Given the description of an element on the screen output the (x, y) to click on. 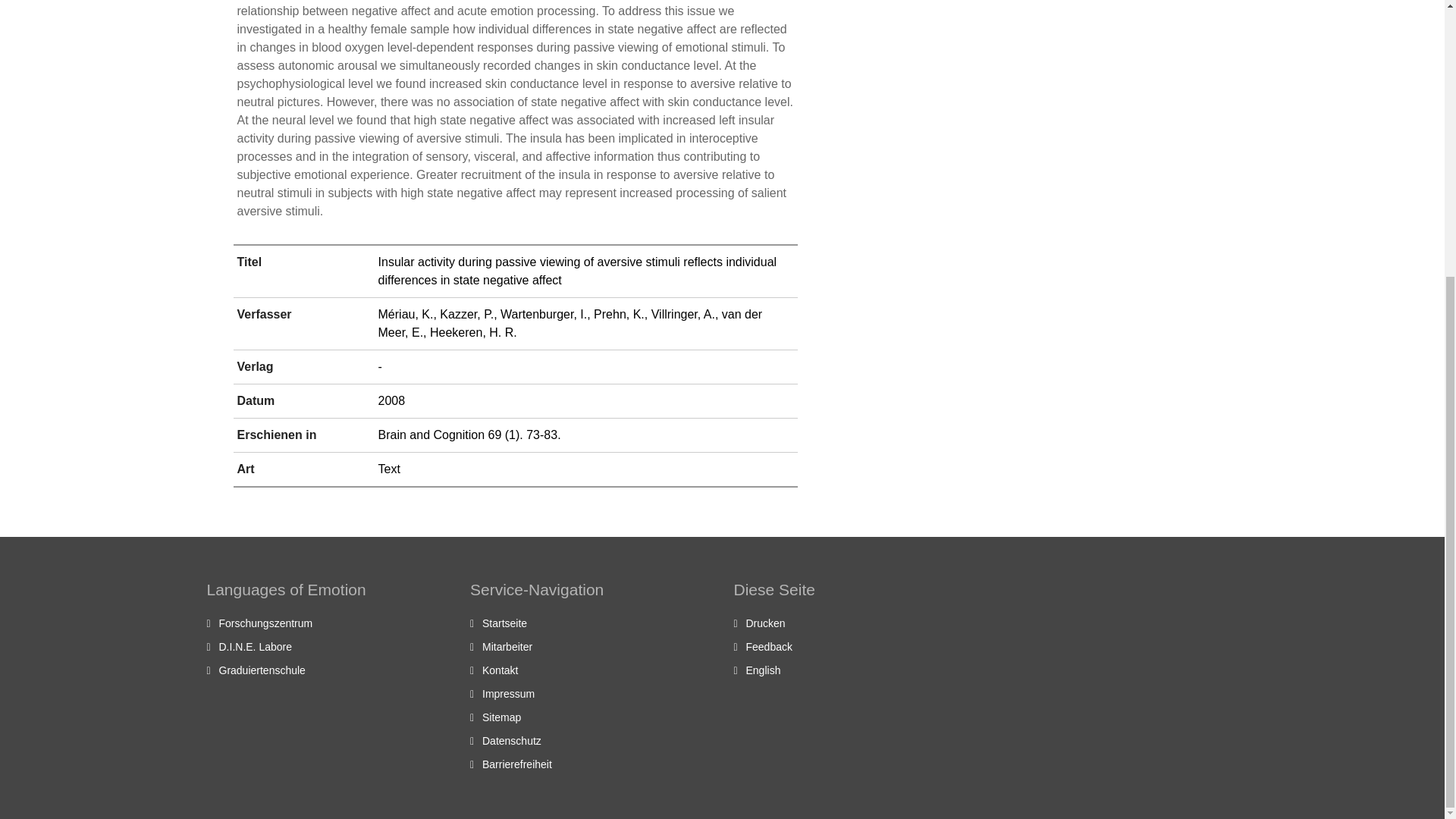
Kontakt (499, 670)
Sitemap (501, 717)
Impressum (507, 693)
Startseite (504, 623)
Forschungszentrum (265, 623)
D.I.N.E. Labore (255, 646)
Graduiertenschule (261, 670)
Mitarbeiter (506, 646)
Datenschutz (511, 740)
Zur Startseite von: Languages of Emotion (504, 623)
Feedback (768, 646)
Drucken (765, 623)
English (762, 670)
Barrierefreiheit (516, 764)
